Given the description of an element on the screen output the (x, y) to click on. 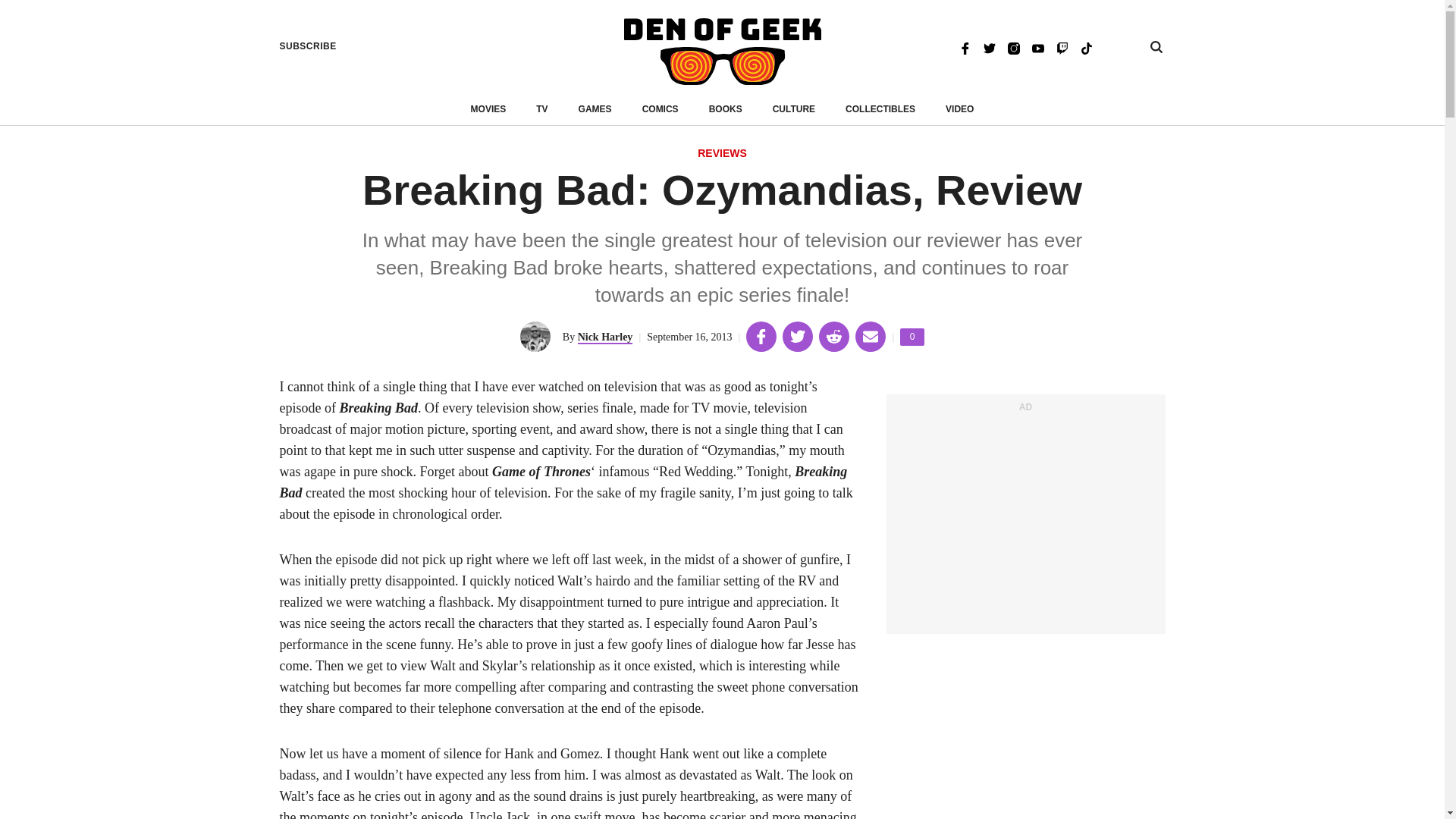
VIDEO (959, 109)
COMICS (660, 109)
CULTURE (794, 109)
Twitter (988, 46)
GAMES (911, 336)
Twitch (594, 109)
REVIEWS (1061, 46)
Instagram (721, 153)
Nick Harley (1013, 46)
